Given the description of an element on the screen output the (x, y) to click on. 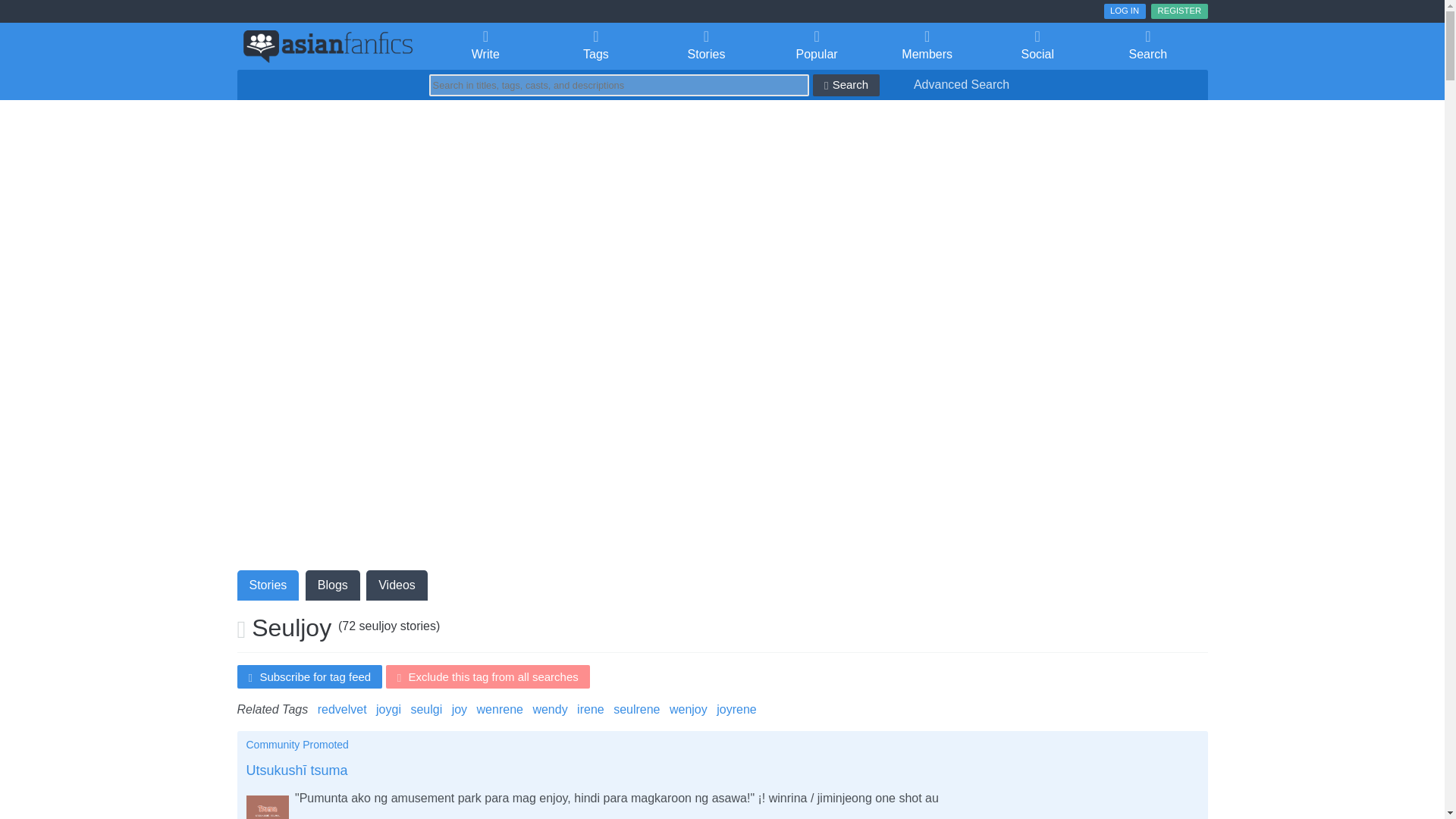
Popular (816, 45)
Stories (705, 45)
Members (927, 45)
Search (1148, 45)
Social (1037, 45)
REGISTER (1179, 10)
Write (485, 45)
Tags (595, 45)
LOG IN (1124, 10)
